Given the description of an element on the screen output the (x, y) to click on. 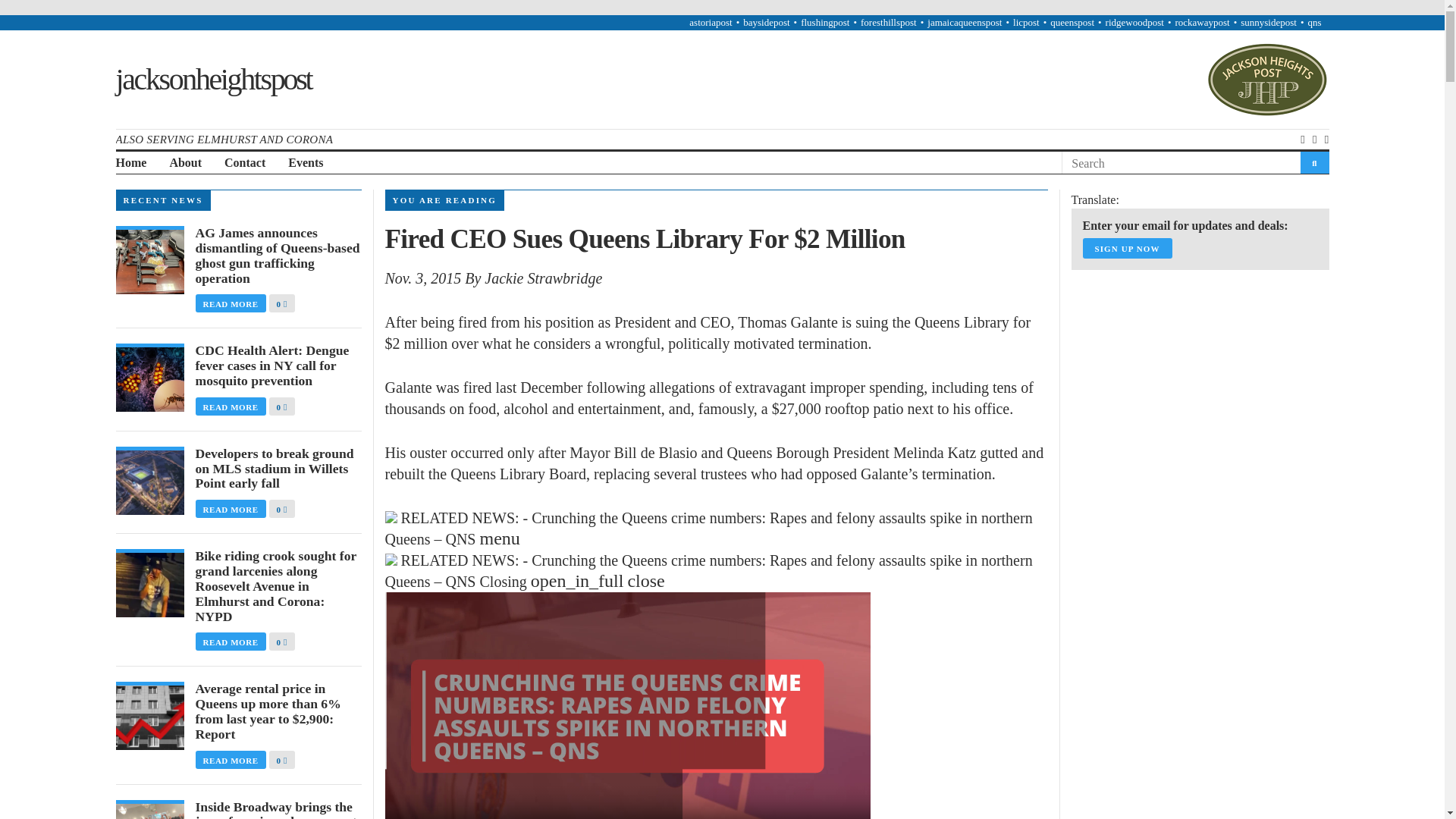
sunnysidepost (1268, 21)
baysidepost (765, 21)
Home (131, 163)
foresthillspost (888, 21)
licpost (1026, 21)
queenspost (1071, 21)
Contact (244, 163)
ridgewoodpost (1134, 21)
astoriapost (710, 21)
jacksonheightspost (213, 79)
3rd party ad content (1184, 376)
rockawaypost (1201, 21)
About (185, 163)
flushingpost (824, 21)
jamaicaqueenspost (964, 21)
